Given the description of an element on the screen output the (x, y) to click on. 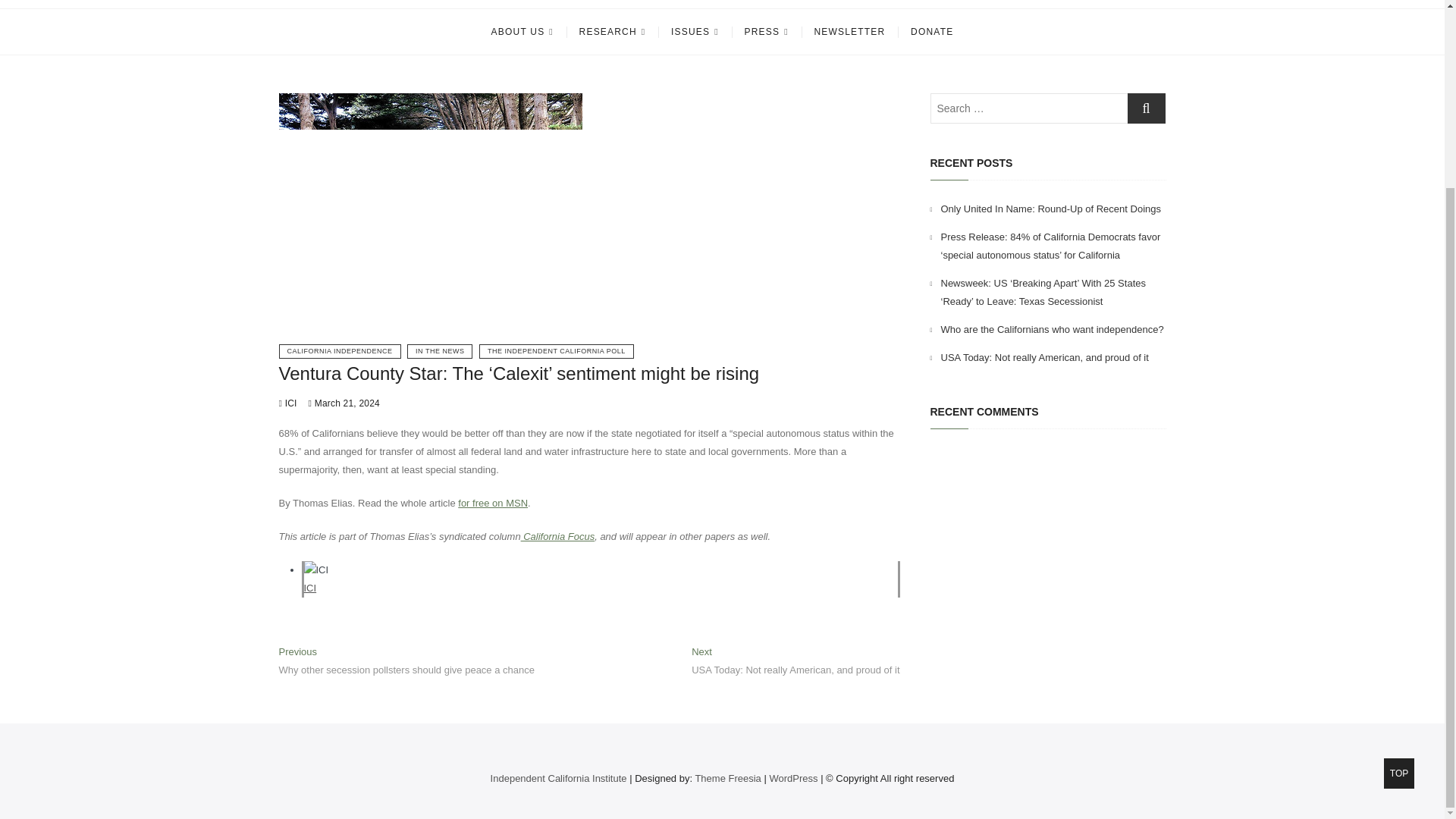
for free on MSN (492, 502)
DONATE (931, 31)
WordPress (792, 778)
March 21, 2024 (344, 403)
Theme Freesia (727, 778)
ABOUT US (522, 31)
CALIFORNIA INDEPENDENCE (340, 350)
RESEARCH (612, 31)
ICI (308, 587)
California Focus (558, 536)
ISSUES (694, 31)
IN THE NEWS (439, 350)
ICI (288, 403)
Independent California Institute (558, 778)
ICI (308, 587)
